Given the description of an element on the screen output the (x, y) to click on. 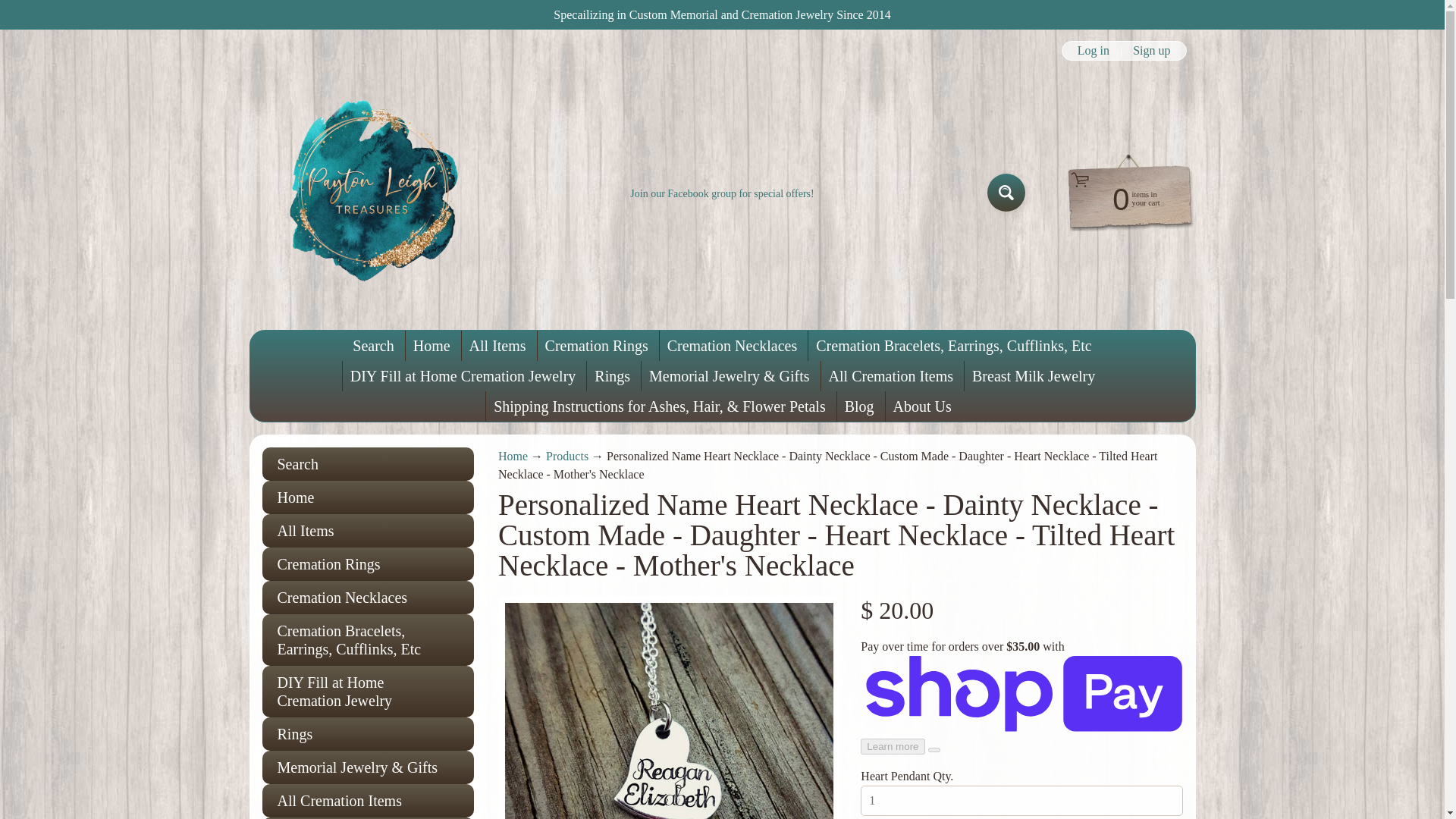
Rings (368, 734)
Blog (859, 406)
Search (373, 345)
Breast Milk Jewelry (1032, 376)
DIY Fill at Home Cremation Jewelry (368, 691)
All Items (368, 530)
All Cremation Items (890, 376)
Search (368, 463)
Log in (1093, 50)
